Given the description of an element on the screen output the (x, y) to click on. 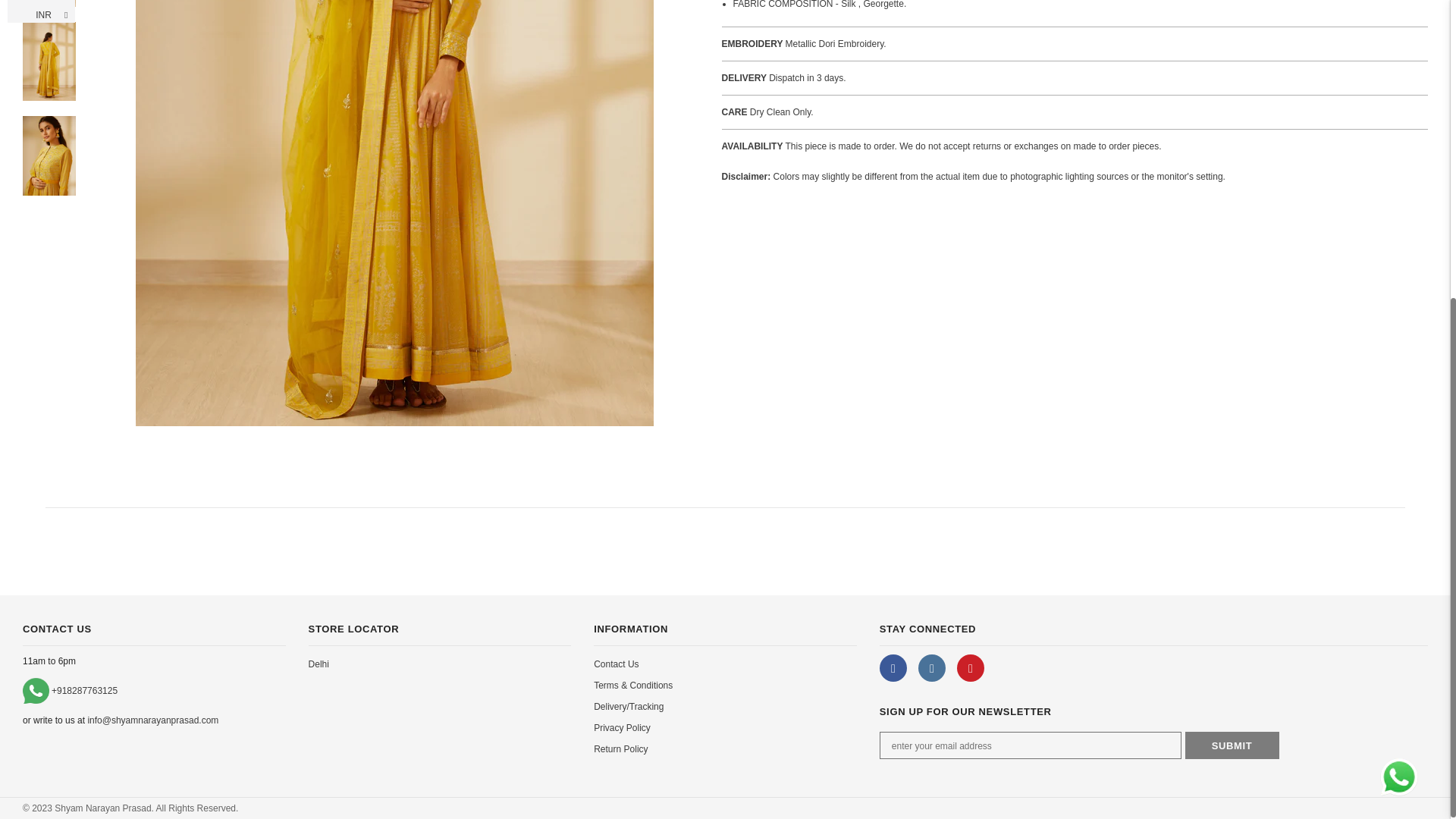
Submit (1232, 745)
